Given the description of an element on the screen output the (x, y) to click on. 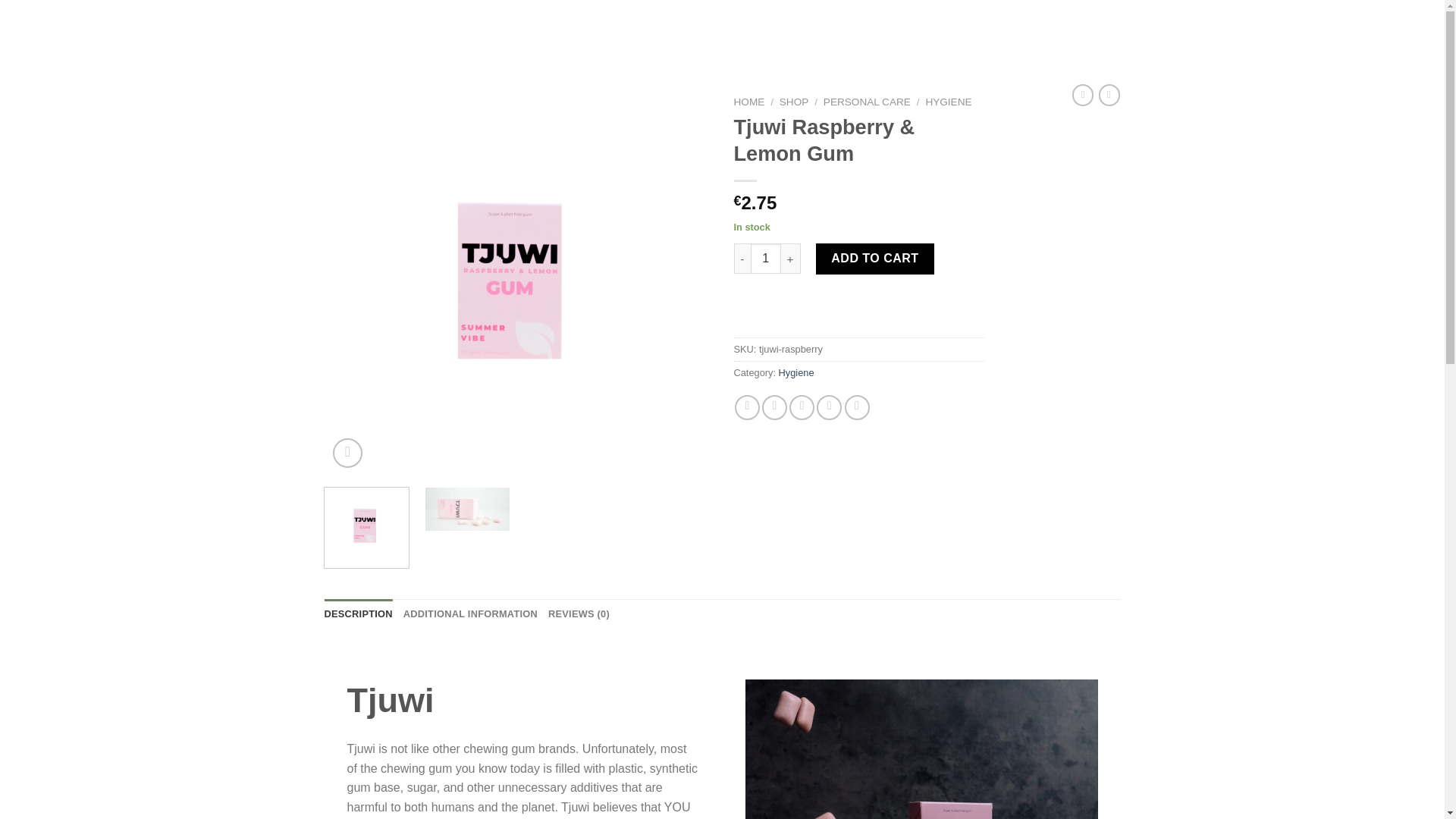
SHOP (793, 101)
Good Avenue - Shop the good (400, 29)
DESCRIPTION (358, 613)
Hygiene (795, 372)
Zoom (347, 452)
SHOP THE GOOD (541, 28)
Share on Facebook (747, 407)
BRANDS (615, 28)
Share on Twitter (774, 407)
PERSONAL CARE (867, 101)
1 (765, 258)
Share on LinkedIn (856, 407)
Pin on Pinterest (828, 407)
BLOG (707, 28)
CONTACT (756, 28)
